Given the description of an element on the screen output the (x, y) to click on. 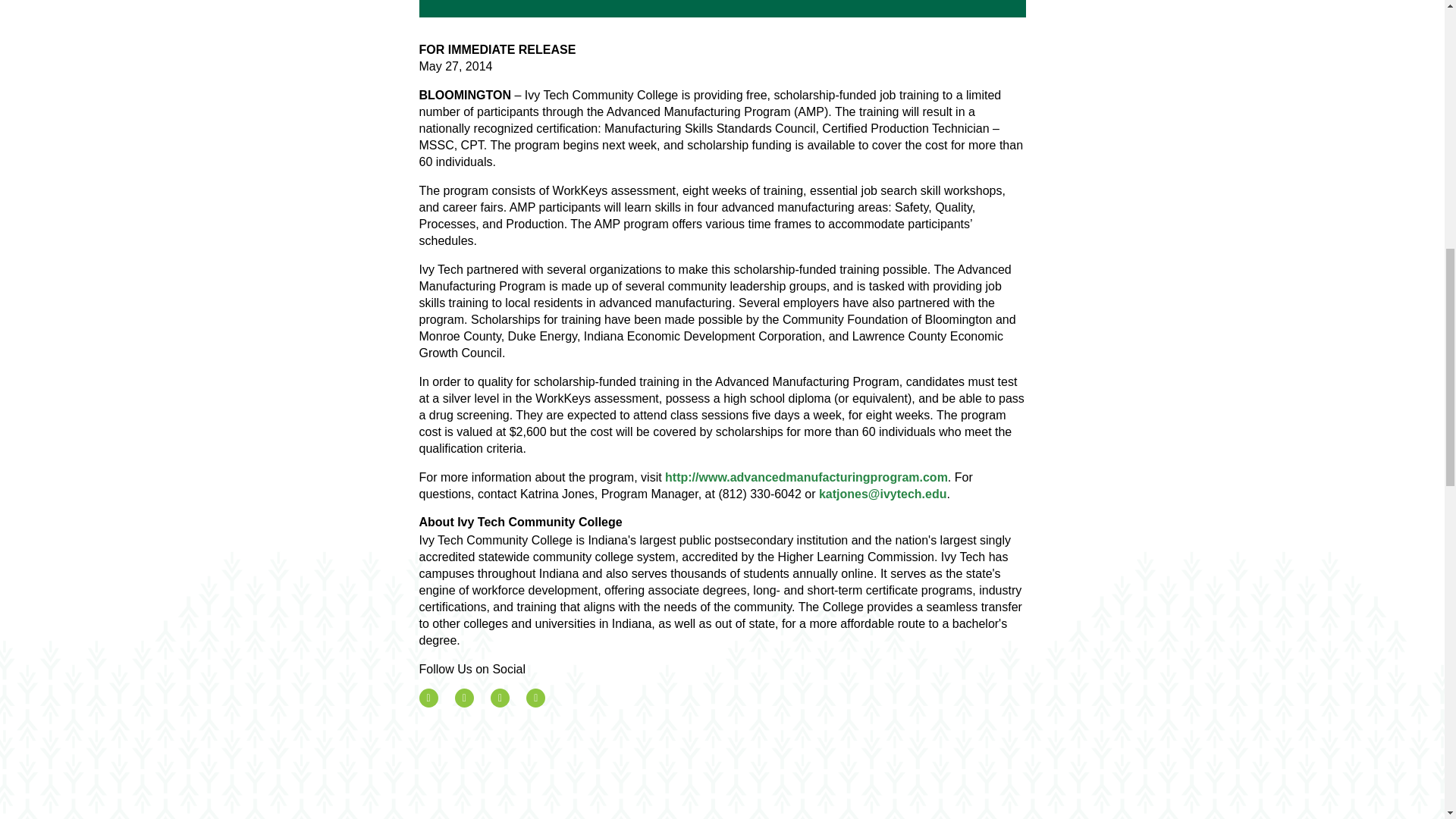
Instagram (499, 697)
LinkedIn (534, 697)
Facebook (428, 697)
Twitter (464, 697)
